Given the description of an element on the screen output the (x, y) to click on. 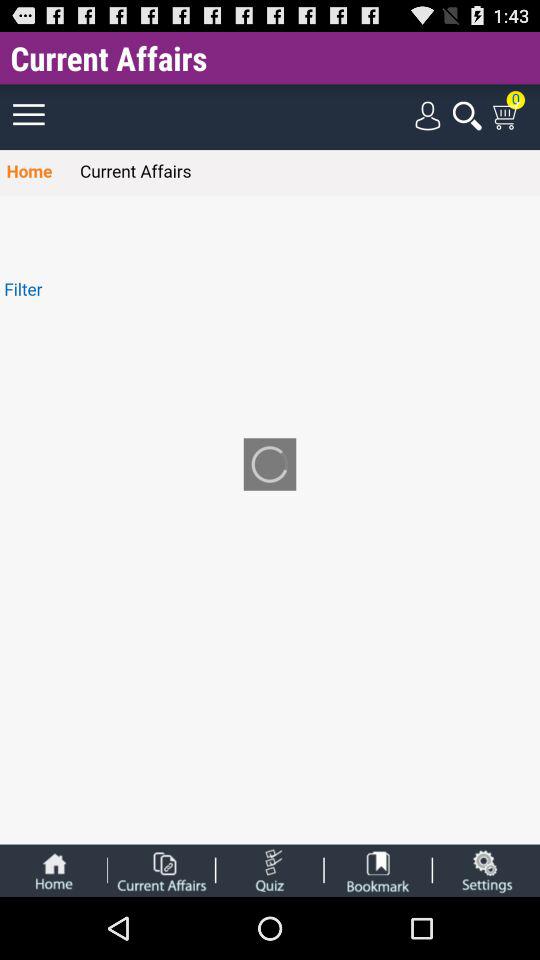
go to settings (486, 870)
